Given the description of an element on the screen output the (x, y) to click on. 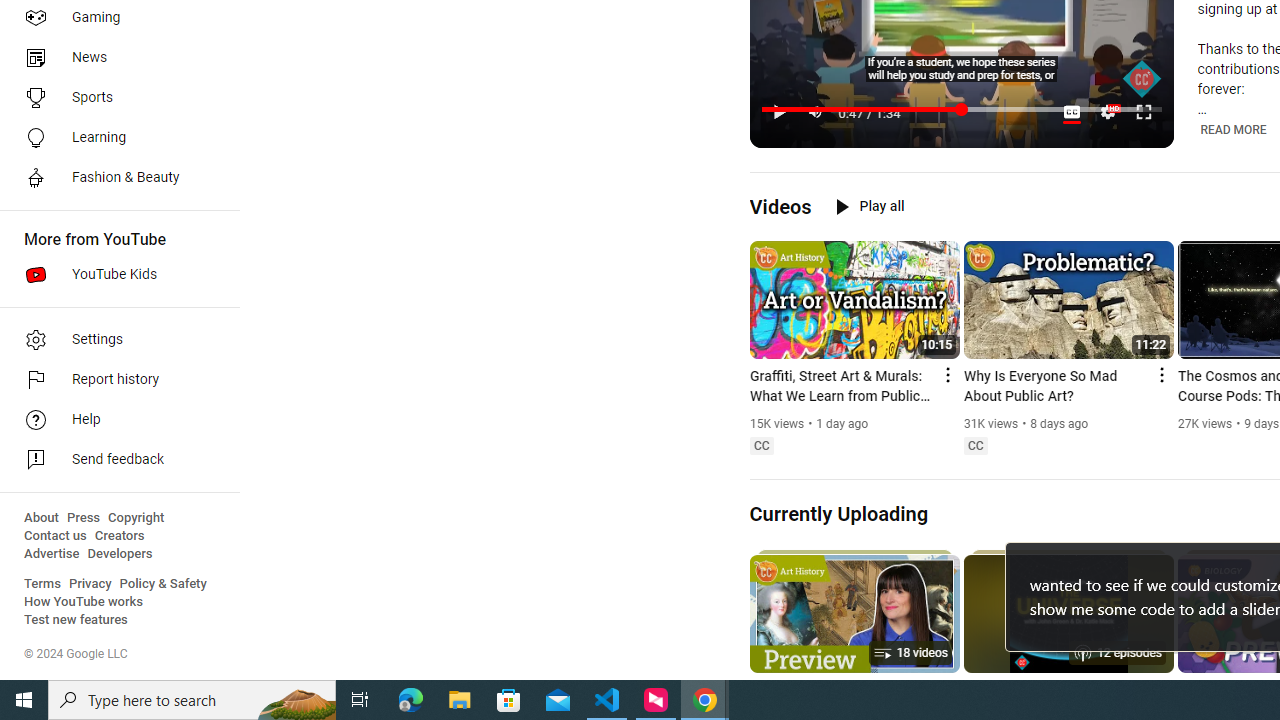
Action menu (1160, 374)
News (113, 57)
Help (113, 419)
Send feedback (113, 459)
Settings (113, 339)
Seek slider (961, 109)
YouTube Kids (113, 274)
Learning (113, 137)
Currently Uploading (838, 513)
